Given the description of an element on the screen output the (x, y) to click on. 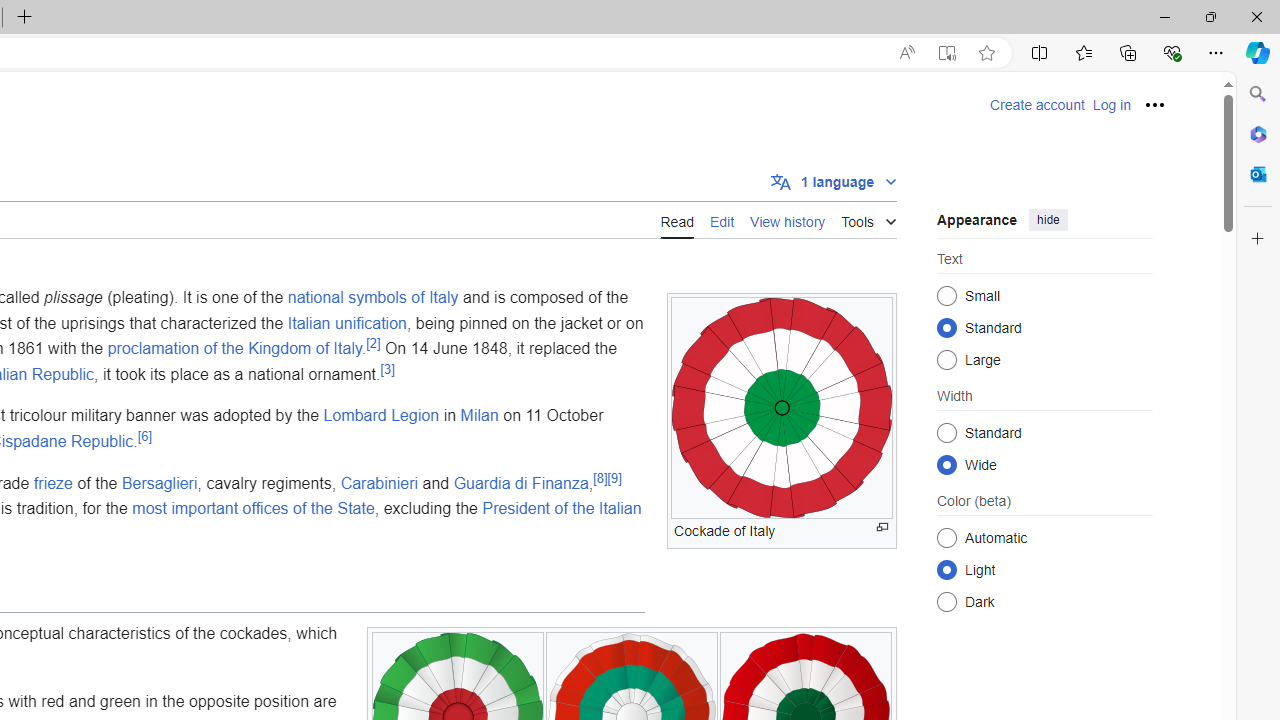
proclamation of the Kingdom of Italy (234, 348)
Class: mw-file-description (782, 407)
Read (676, 219)
Create account (1037, 105)
Standard (946, 431)
Wide (946, 464)
Bersaglieri (159, 482)
Read aloud this page (Ctrl+Shift+U) (906, 53)
Carabinieri (379, 482)
hide (1048, 219)
Close Outlook pane (1258, 174)
Tools (868, 218)
Minimize (1164, 16)
Milan (479, 415)
[6] (144, 435)
